Given the description of an element on the screen output the (x, y) to click on. 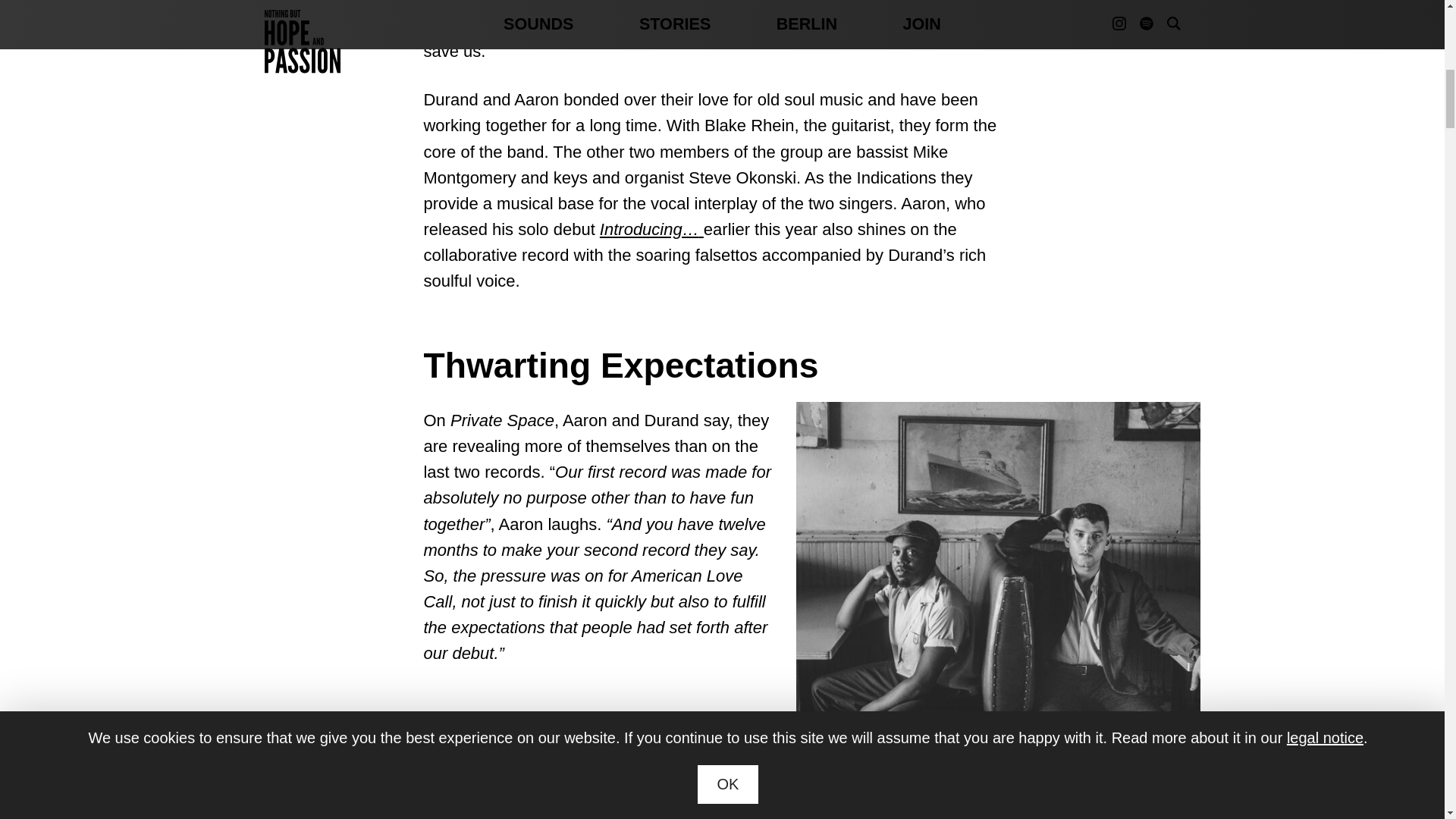
Aaron Frazer (965, 4)
